Given the description of an element on the screen output the (x, y) to click on. 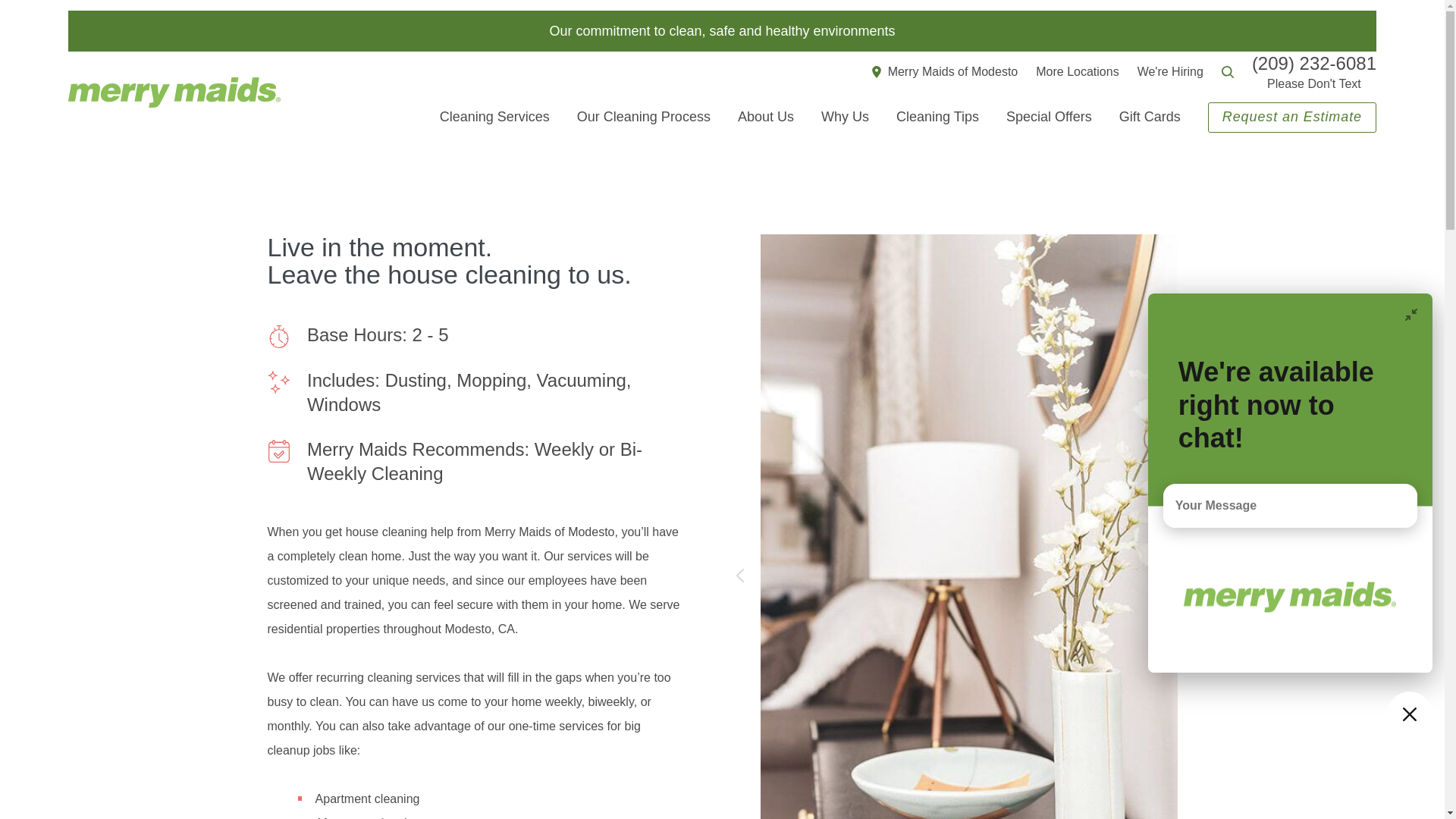
View Next Item (1196, 575)
Our Cleaning Process (643, 117)
View Previous Item (739, 575)
Cleaning Services (494, 117)
Merry Maids (174, 91)
Our commitment to clean, safe and healthy environments (721, 30)
More Locations (1076, 71)
Why Us (845, 117)
We're Hiring (1170, 71)
About Us (765, 117)
